Given the description of an element on the screen output the (x, y) to click on. 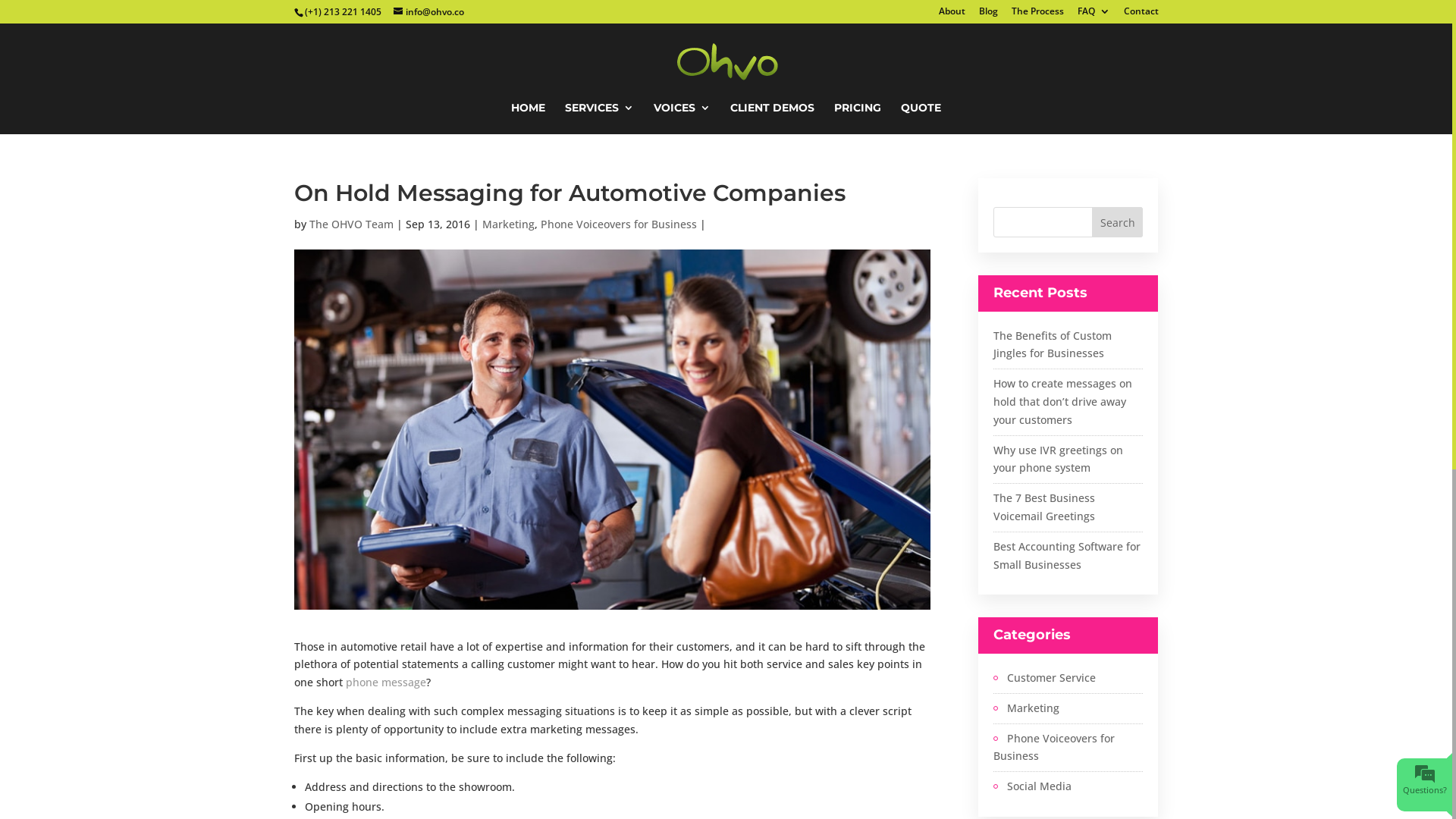
FAQ Element type: text (1092, 14)
Phone Voiceovers for Business Element type: text (617, 223)
Phone Voiceovers for Business Element type: text (1068, 747)
Marketing Element type: text (1026, 708)
The Process Element type: text (1037, 14)
PRICING Element type: text (857, 118)
Customer Service Element type: text (1044, 677)
Marketing Element type: text (508, 223)
QUOTE Element type: text (920, 118)
Search Element type: text (1117, 222)
About Element type: text (951, 14)
The OHVO Team Element type: text (351, 223)
The 7 Best Business Voicemail Greetings Element type: text (1044, 506)
Why use IVR greetings on your phone system Element type: text (1058, 458)
phone message Element type: text (385, 681)
CLIENT DEMOS Element type: text (772, 118)
HOME Element type: text (528, 118)
Blog Element type: text (987, 14)
VOICES Element type: text (681, 118)
Social Media Element type: text (1032, 786)
The Benefits of Custom Jingles for Businesses Element type: text (1052, 344)
Best Accounting Software for Small Businesses Element type: text (1066, 555)
Contact Element type: text (1140, 14)
SERVICES Element type: text (598, 118)
